Given the description of an element on the screen output the (x, y) to click on. 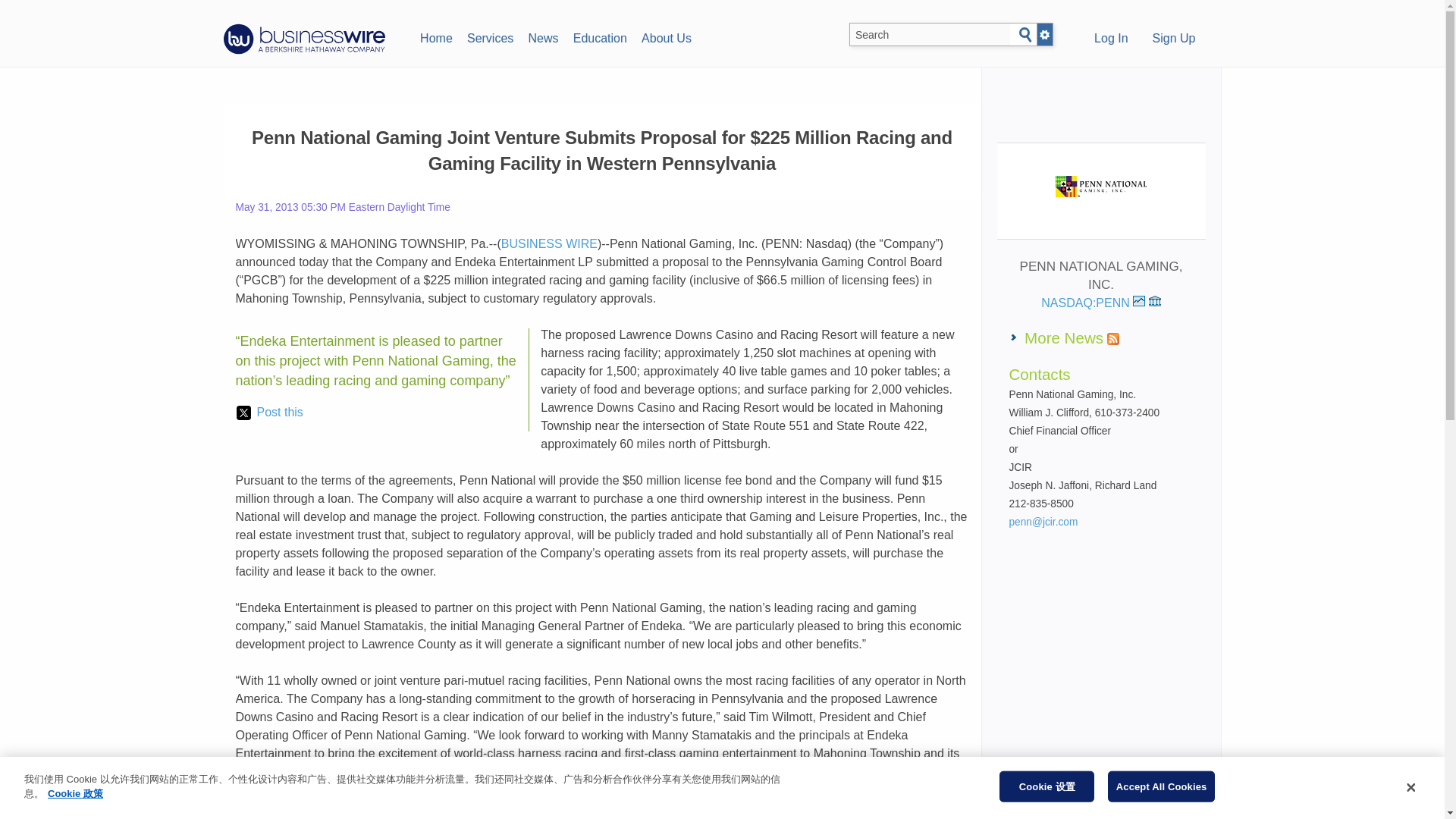
Home (436, 36)
About Us (665, 36)
Search BusinessWire.com (930, 34)
BUSINESS WIRE (548, 243)
View stock quote and chart (1138, 300)
Services (490, 36)
News (543, 36)
Education (599, 36)
Post this (269, 412)
Search (1025, 34)
